Given the description of an element on the screen output the (x, y) to click on. 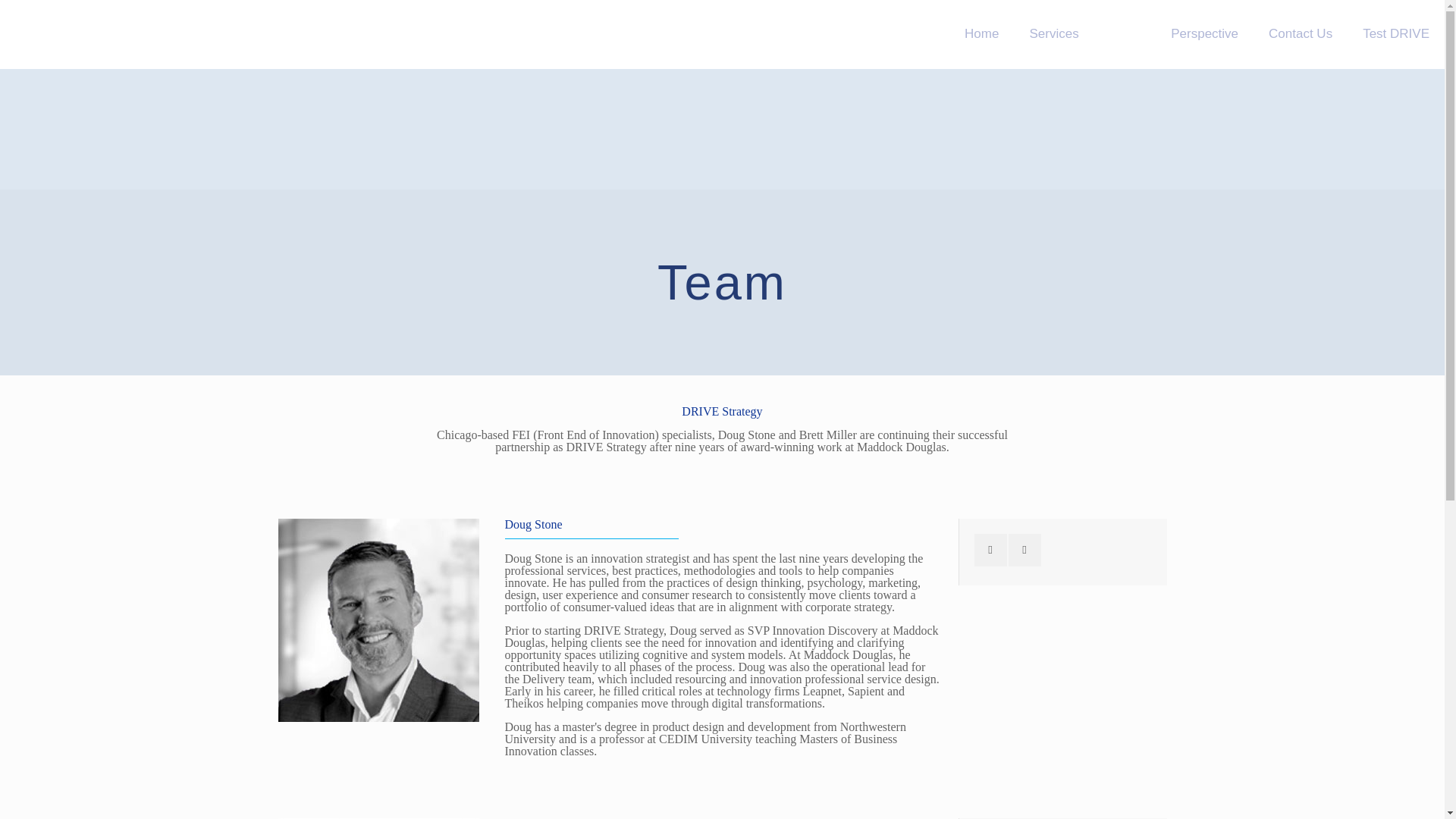
Home (981, 33)
Team (1125, 33)
Perspective (1204, 33)
Contact Us (1300, 33)
Services (1053, 33)
Drive Strategy (71, 33)
